Given the description of an element on the screen output the (x, y) to click on. 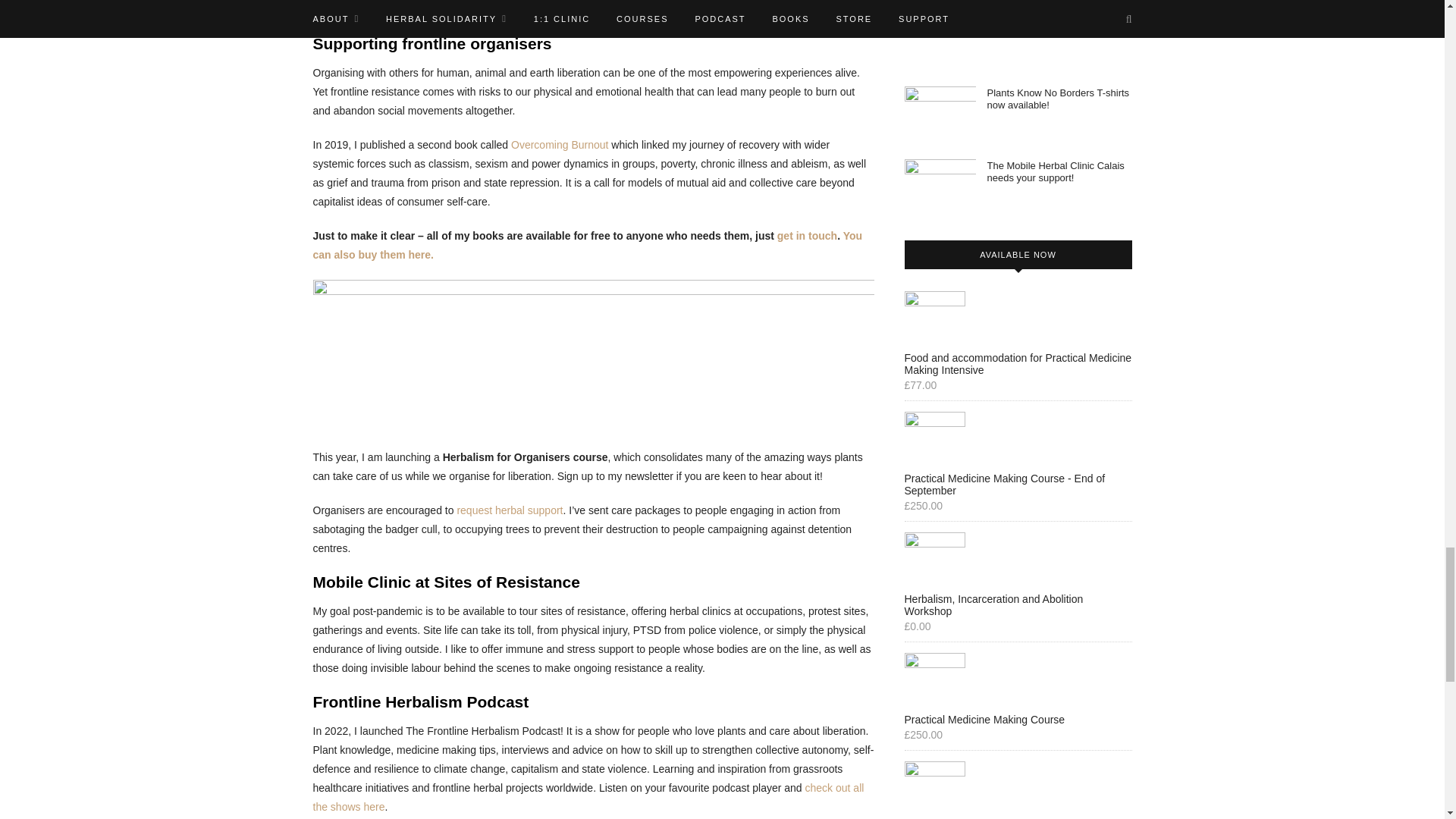
check out all the shows here (588, 797)
request herbal support (509, 510)
You can also buy them here. (587, 245)
Overcoming Burnout (559, 144)
get in touch (807, 235)
